Given the description of an element on the screen output the (x, y) to click on. 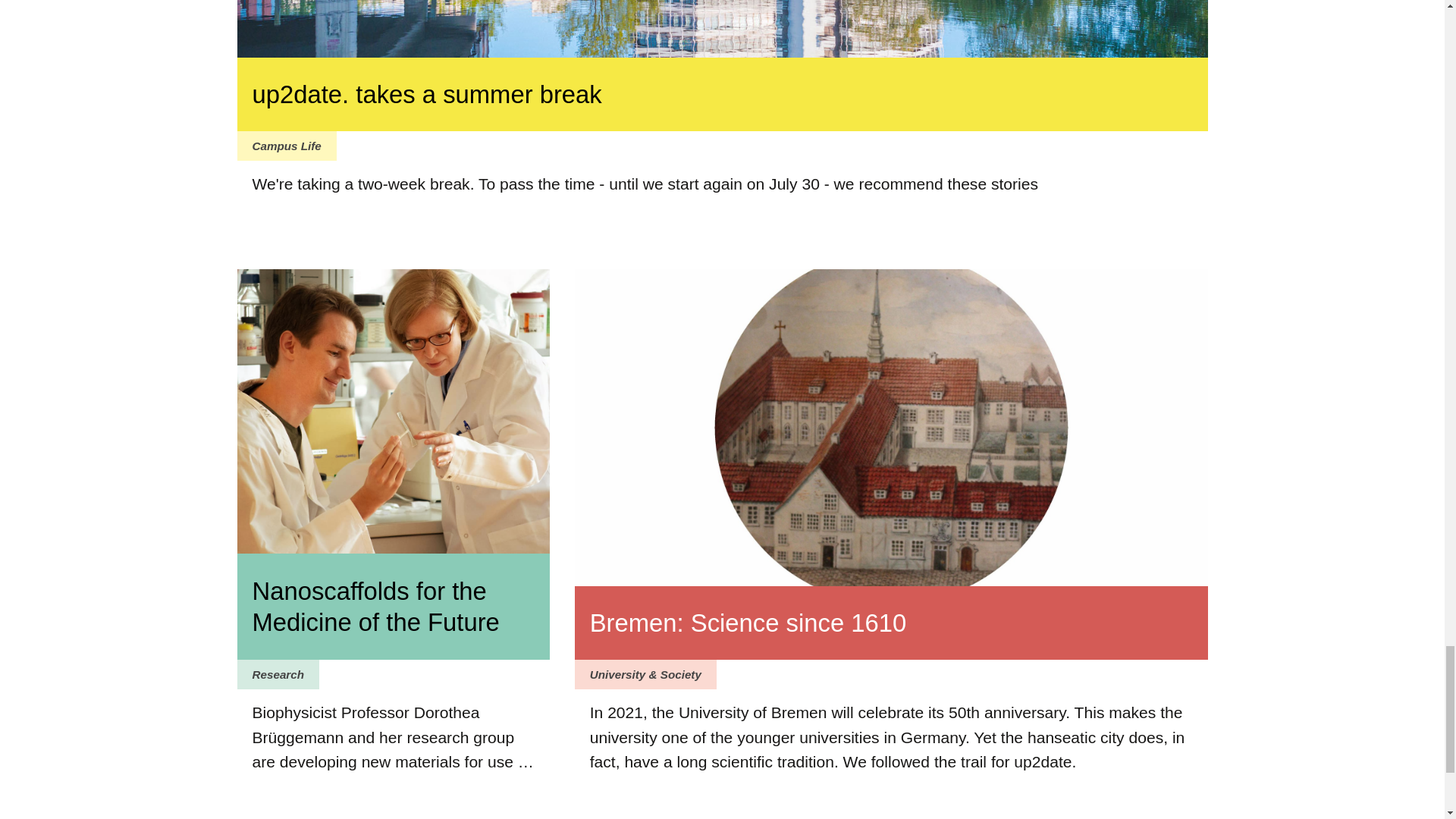
Nanoscaffolds for the Medicine of the Future (392, 606)
